Given the description of an element on the screen output the (x, y) to click on. 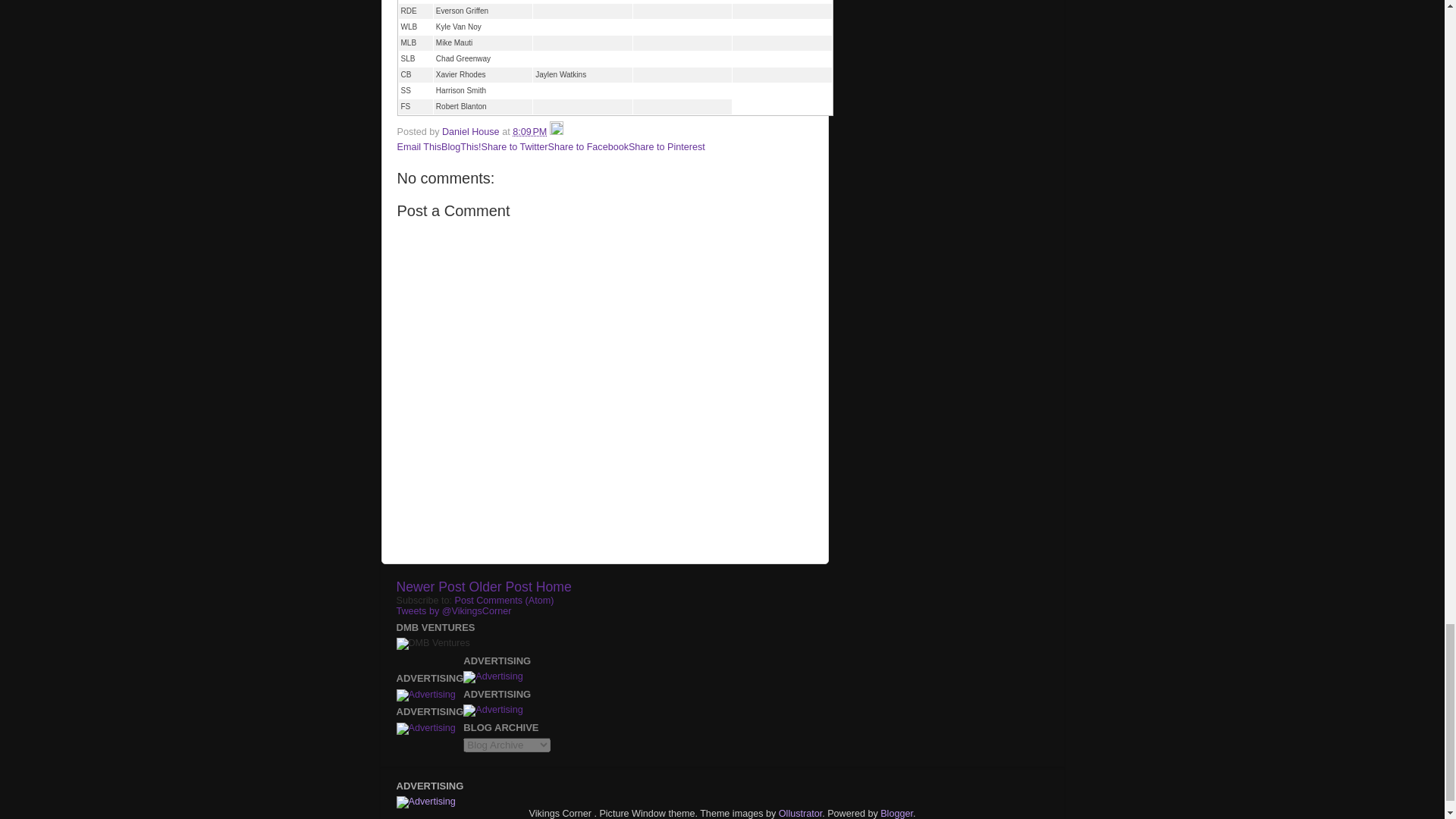
Older Post (500, 586)
Edit Post (556, 131)
Share to Twitter (514, 146)
Share to Pinterest (666, 146)
Older Post (500, 586)
BlogThis! (461, 146)
Share to Facebook (588, 146)
Home (553, 586)
Newer Post (430, 586)
Share to Pinterest (666, 146)
Email This (419, 146)
Newer Post (430, 586)
Daniel House (472, 131)
Share to Facebook (588, 146)
